Given the description of an element on the screen output the (x, y) to click on. 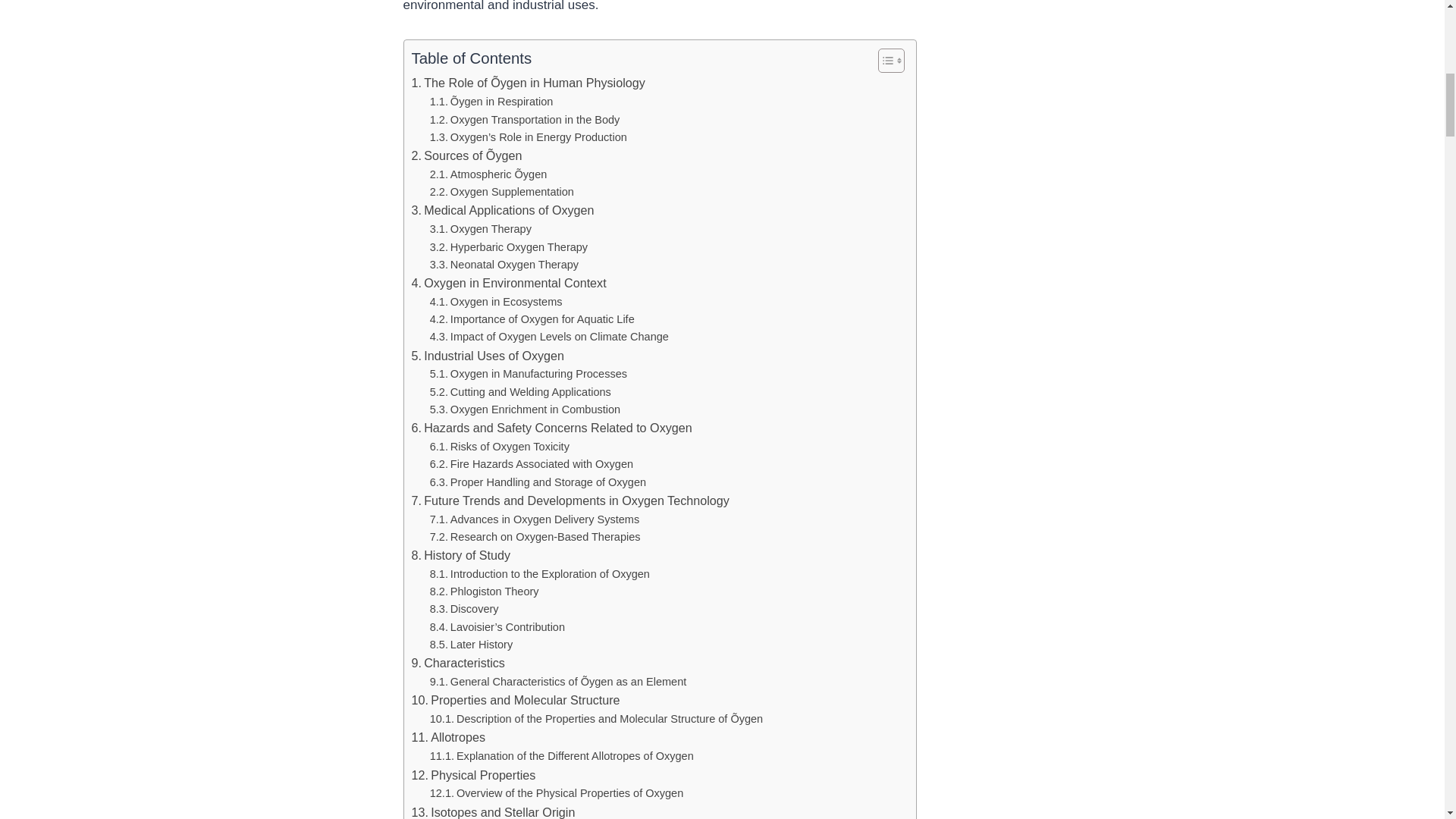
Importance of Oxygen for Aquatic Life (531, 319)
Oxygen Therapy (480, 229)
Hyperbaric Oxygen Therapy (508, 246)
Neonatal Oxygen Therapy (503, 264)
Oxygen Supplementation (501, 191)
Oxygen in Ecosystems (495, 302)
Oxygen Transportation in the Body (524, 119)
Neonatal Oxygen Therapy (503, 264)
Impact of Oxygen Levels on Climate Change (548, 336)
Impact of Oxygen Levels on Climate Change (548, 336)
